Given the description of an element on the screen output the (x, y) to click on. 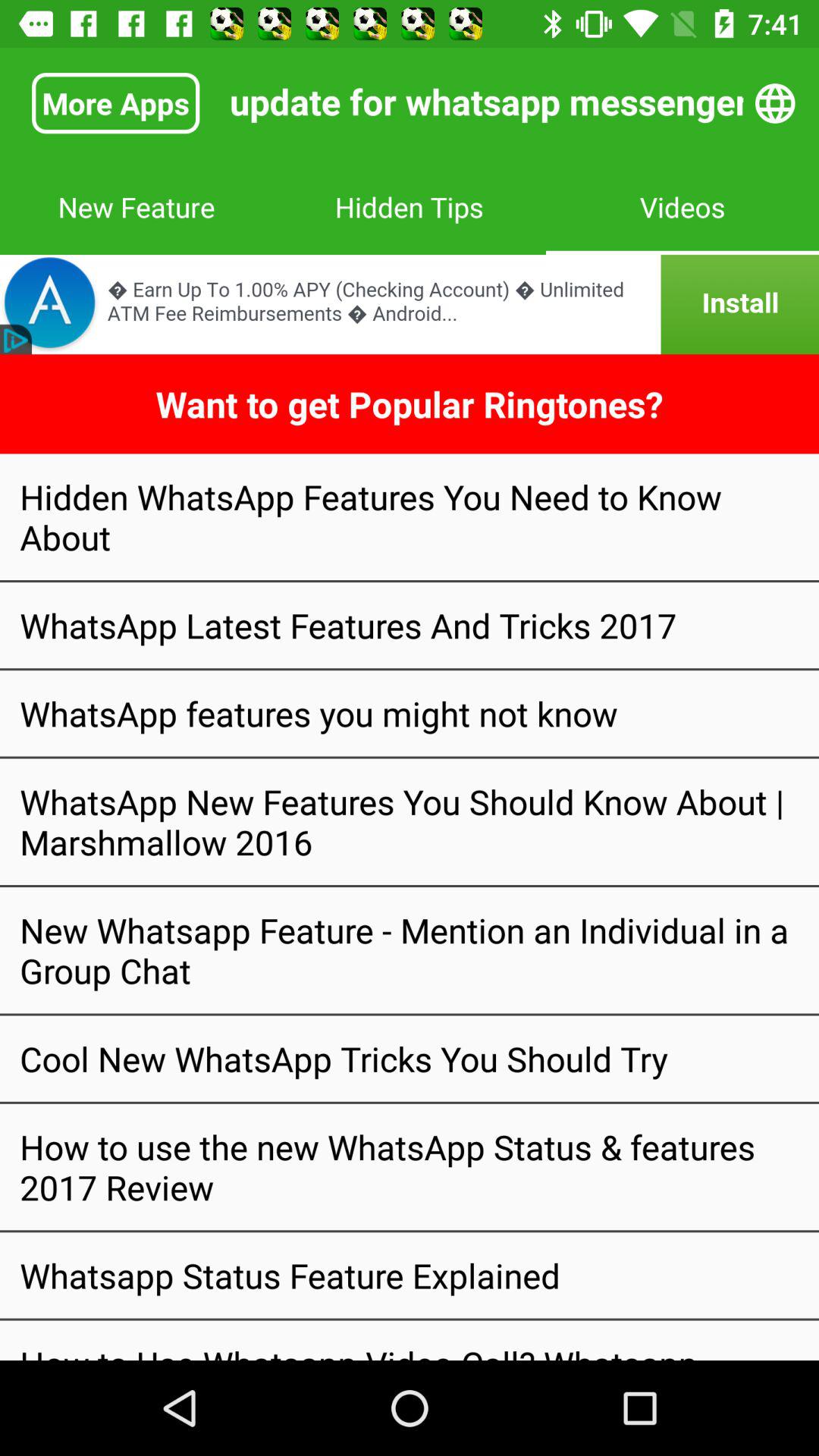
advertisement page (409, 304)
